Given the description of an element on the screen output the (x, y) to click on. 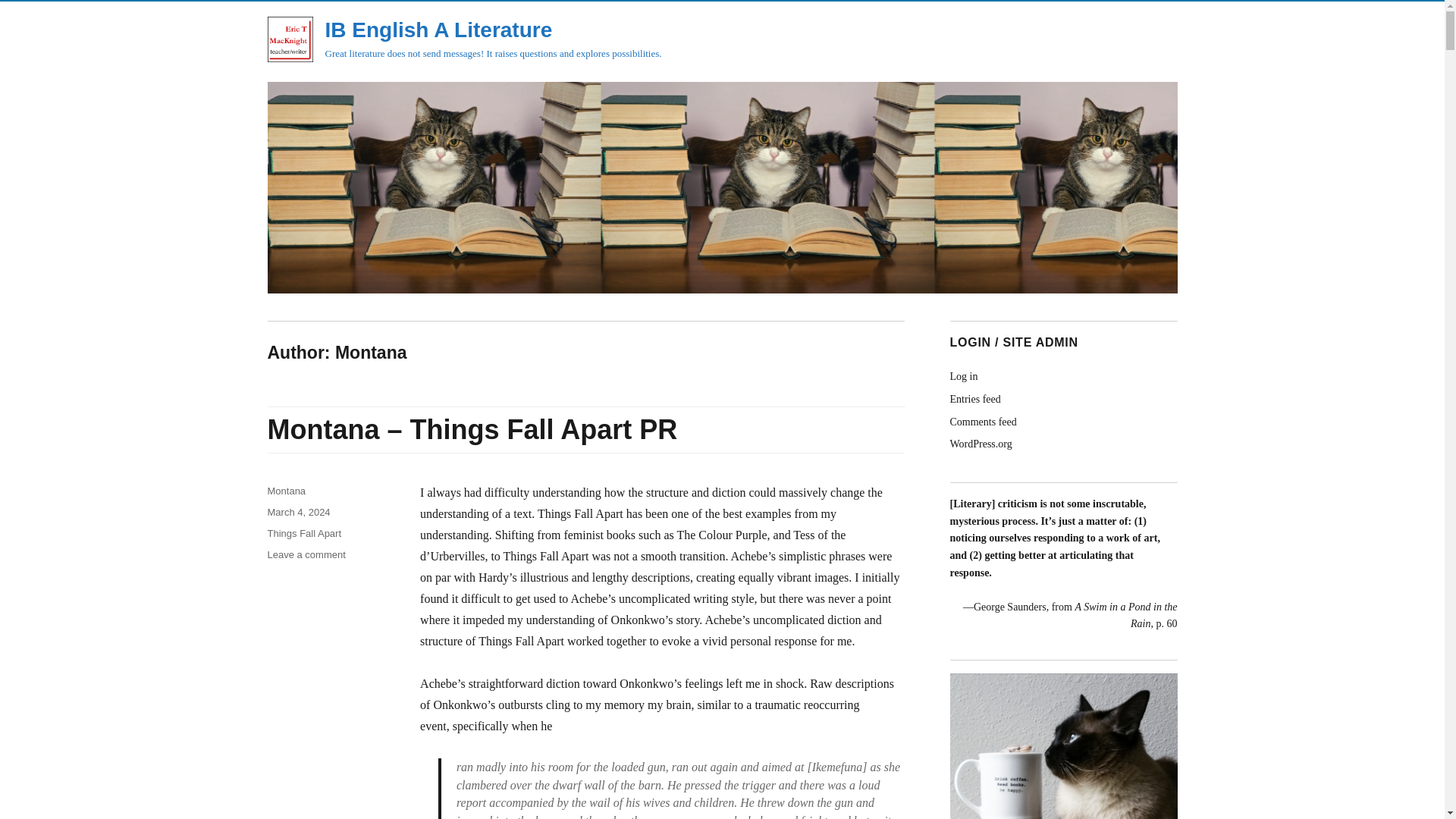
March 4, 2024 (298, 511)
IB English A Literature (437, 29)
Things Fall Apart (303, 532)
Montana (285, 490)
